Given the description of an element on the screen output the (x, y) to click on. 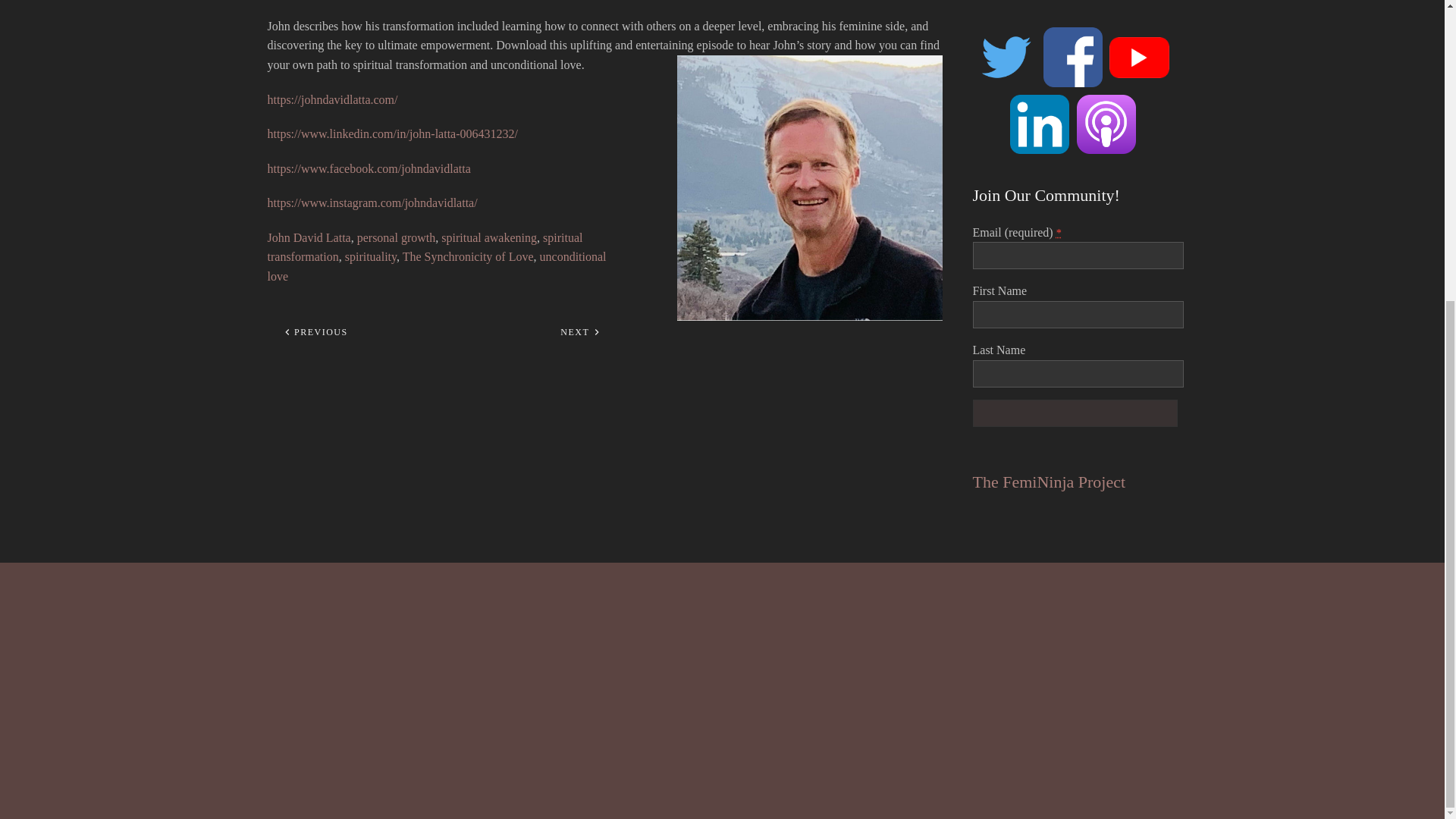
personal growth (395, 237)
unconditional love (435, 266)
John David Latta (308, 237)
spiritual transformation (424, 246)
NEXT (579, 332)
spiritual awakening (489, 237)
PREVIOUS (315, 332)
Sign up (1074, 412)
spirituality (370, 256)
The Synchronicity of Love (468, 256)
